Given the description of an element on the screen output the (x, y) to click on. 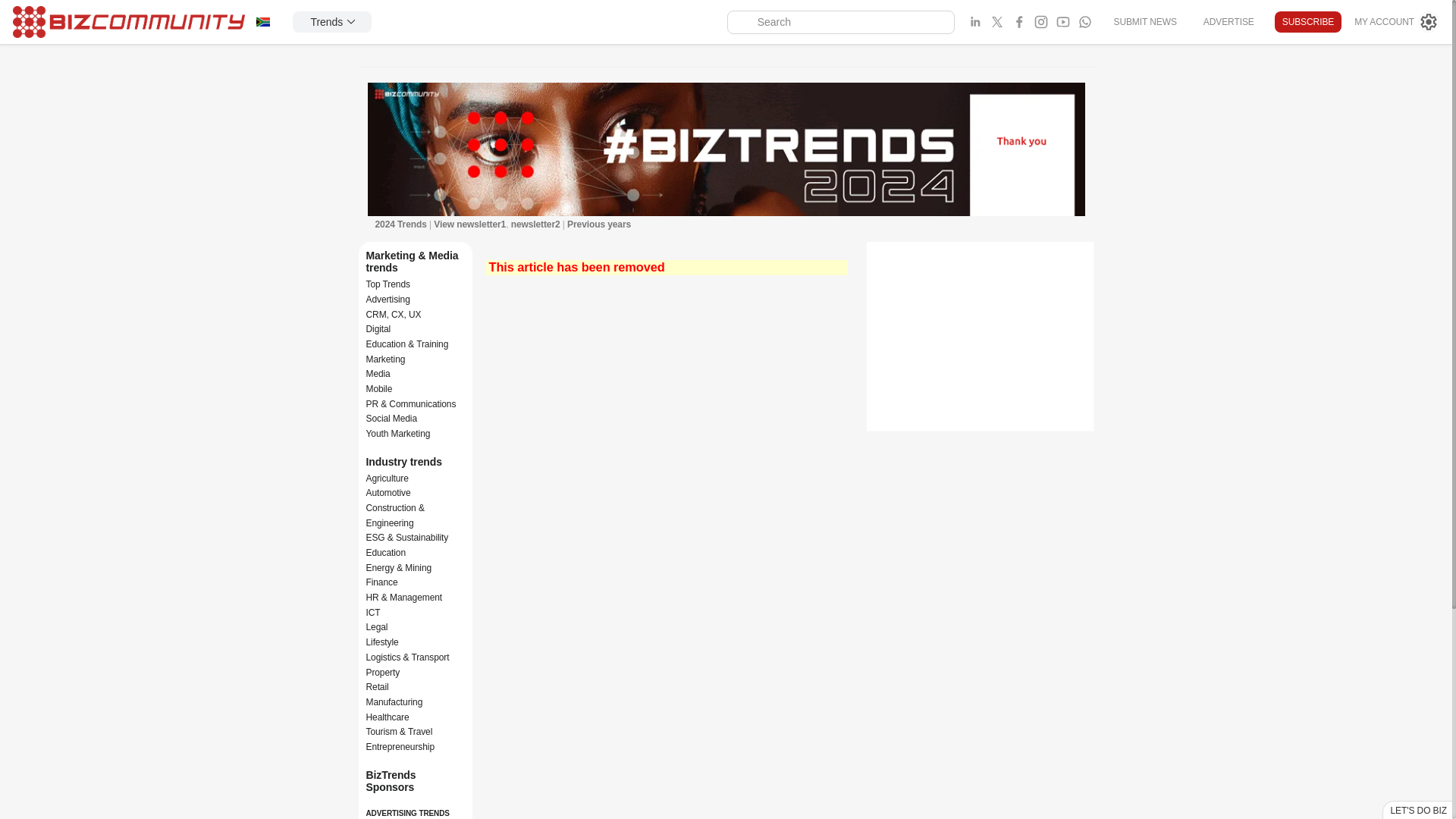
MY ACCOUNT (1396, 21)
Bizcommunity facebook (1018, 22)
Bizcommunity facebook (1084, 22)
Trends (331, 21)
ADVERTISE (1228, 21)
Bizcommunity youtube (1062, 22)
SUBMIT NEWS (1144, 21)
Bizcommunity linked (975, 22)
Bizcommunity instagram (1040, 22)
SUBSCRIBE (1307, 21)
